Given the description of an element on the screen output the (x, y) to click on. 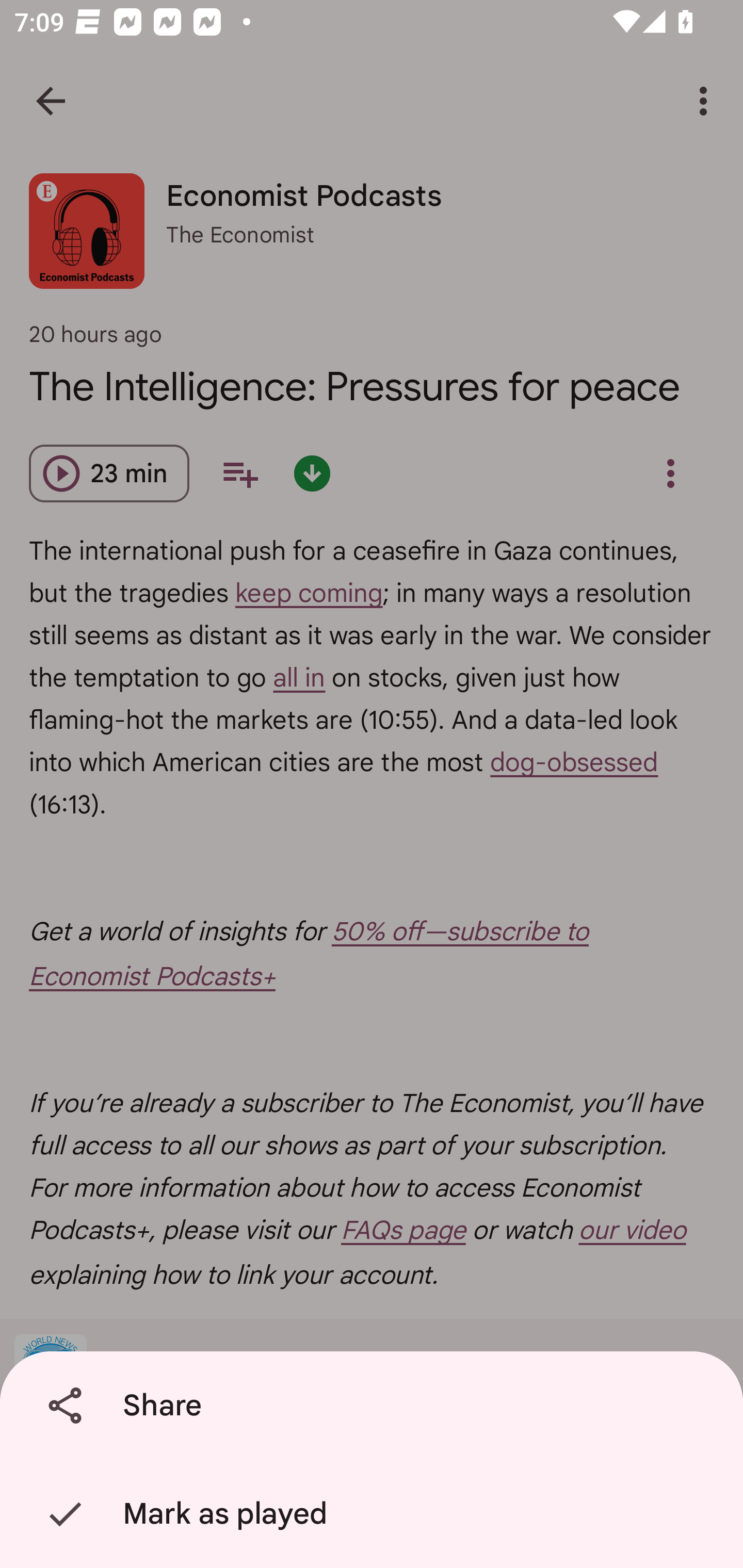
Share (375, 1405)
Mark as played (375, 1513)
